Given the description of an element on the screen output the (x, y) to click on. 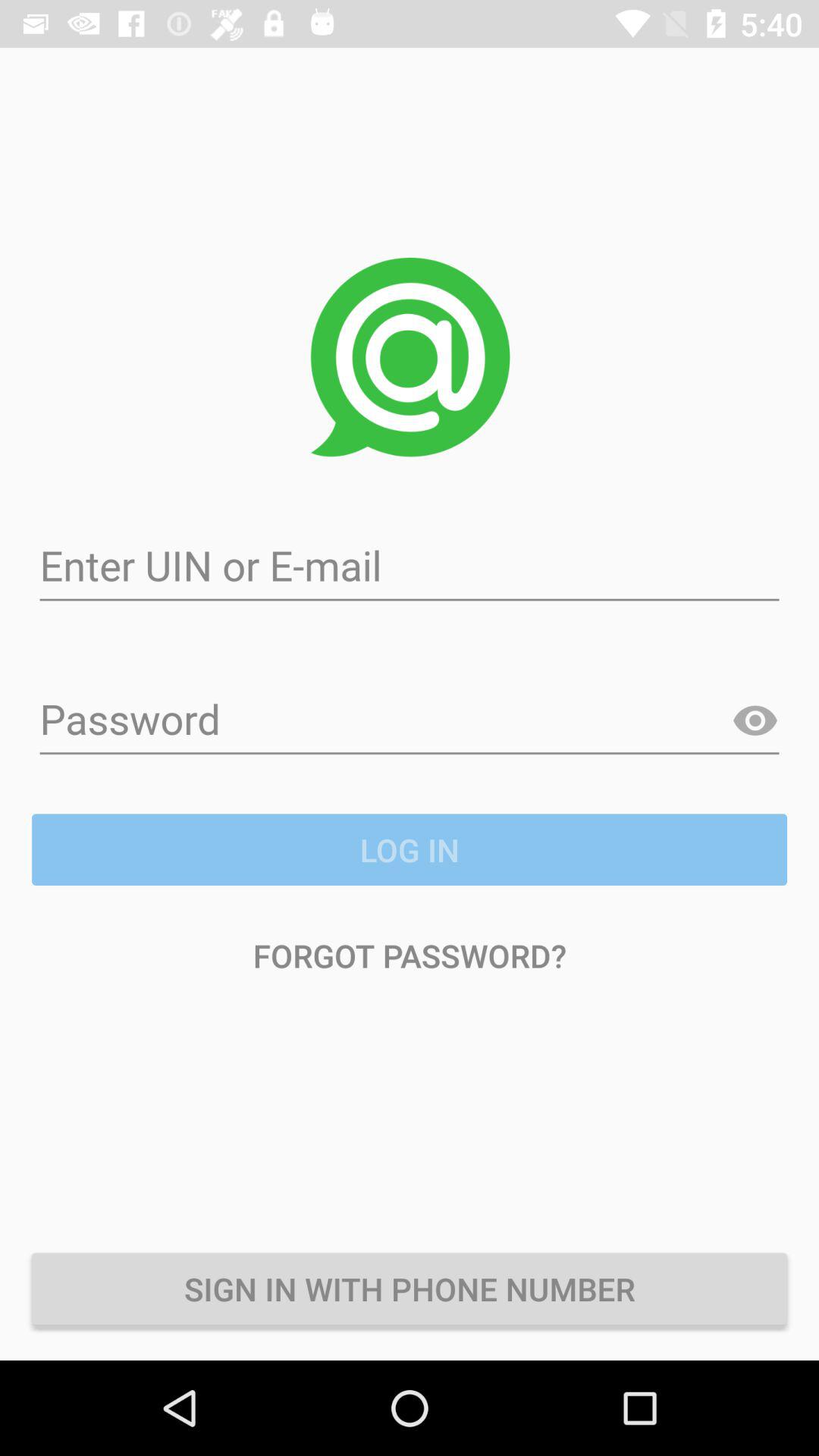
open icon below the forgot password? (409, 1288)
